Given the description of an element on the screen output the (x, y) to click on. 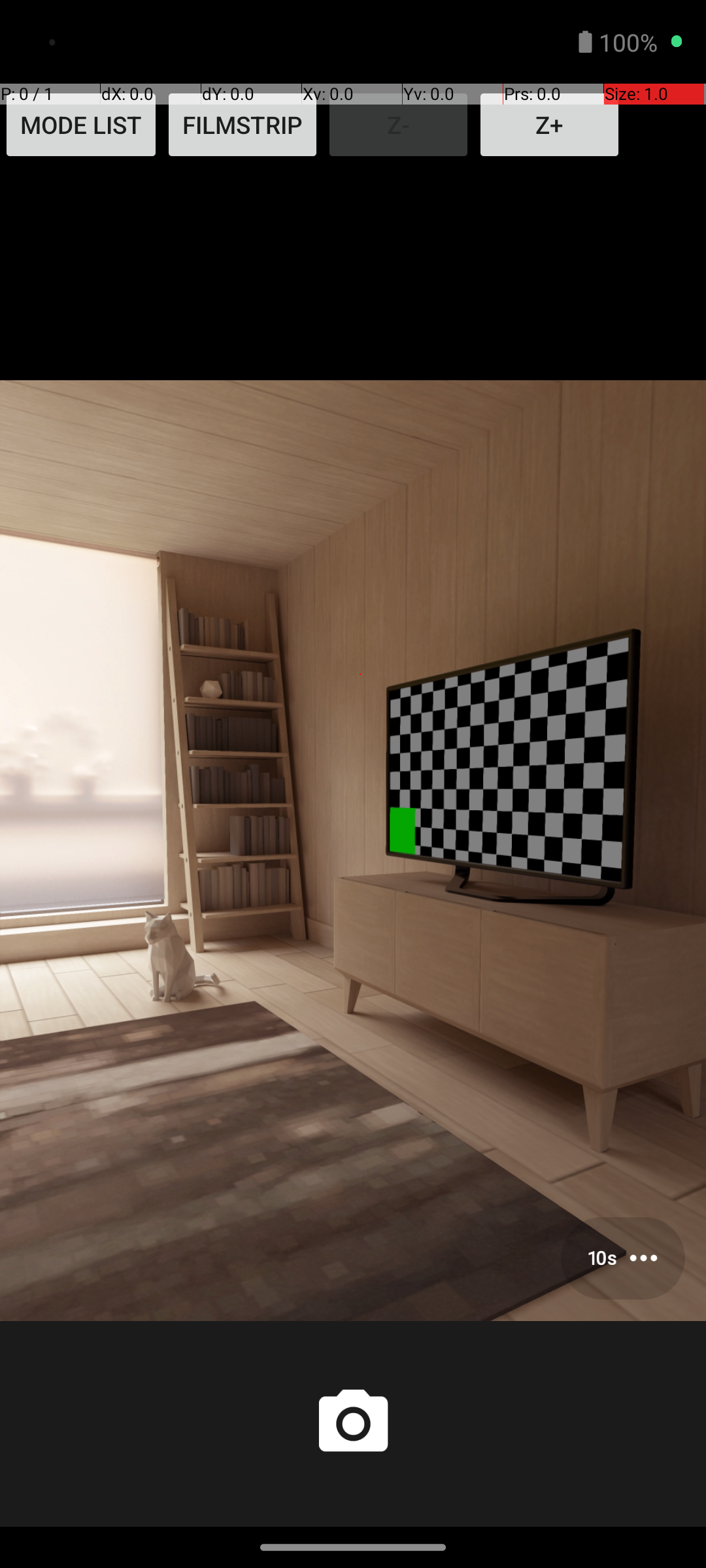
Applications are using your camera. Element type: android.widget.FrameLayout (633, 41)
